Given the description of an element on the screen output the (x, y) to click on. 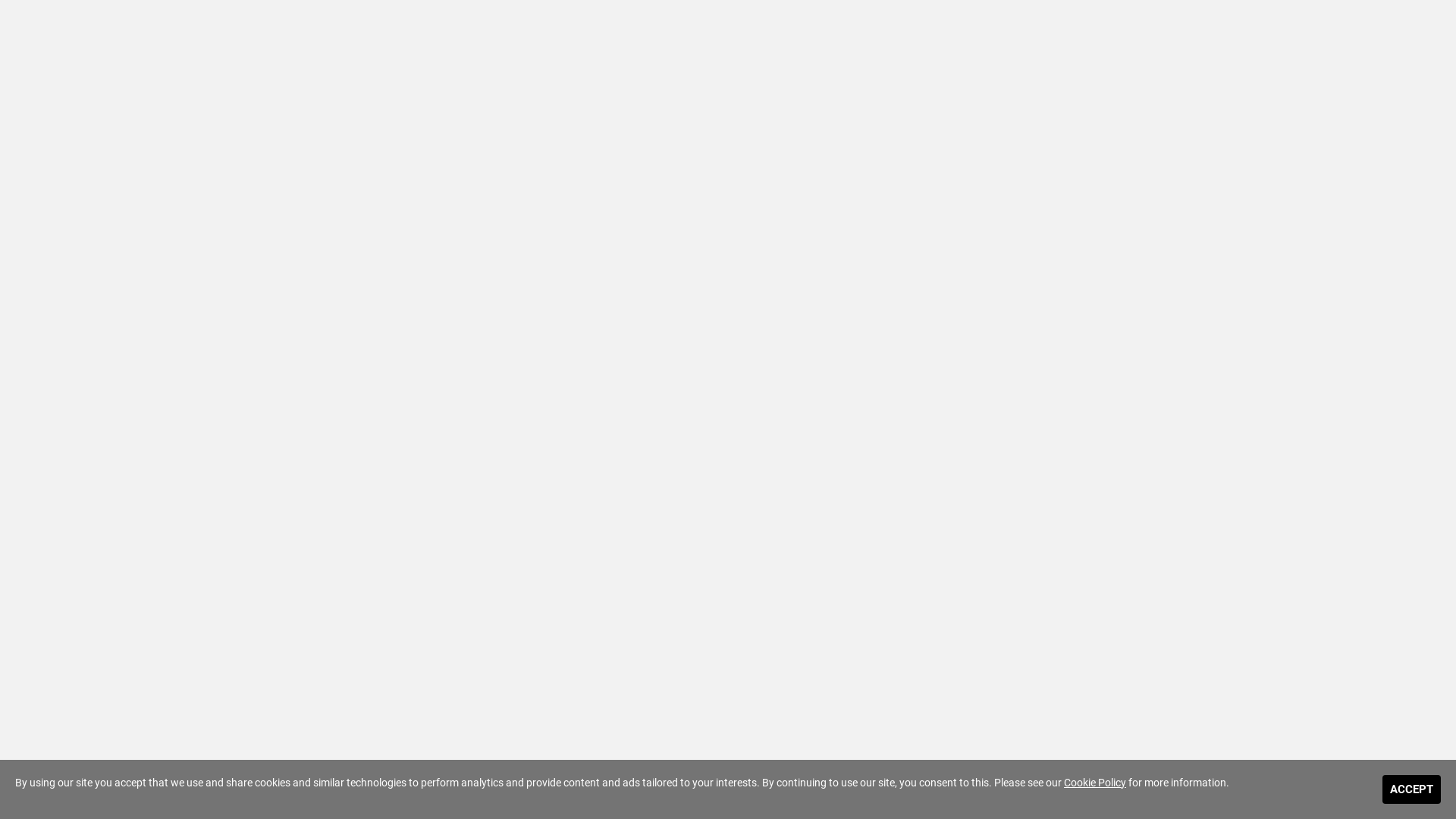
Cookie Policy Element type: text (1094, 782)
ACCEPT Element type: text (1411, 789)
